Given the description of an element on the screen output the (x, y) to click on. 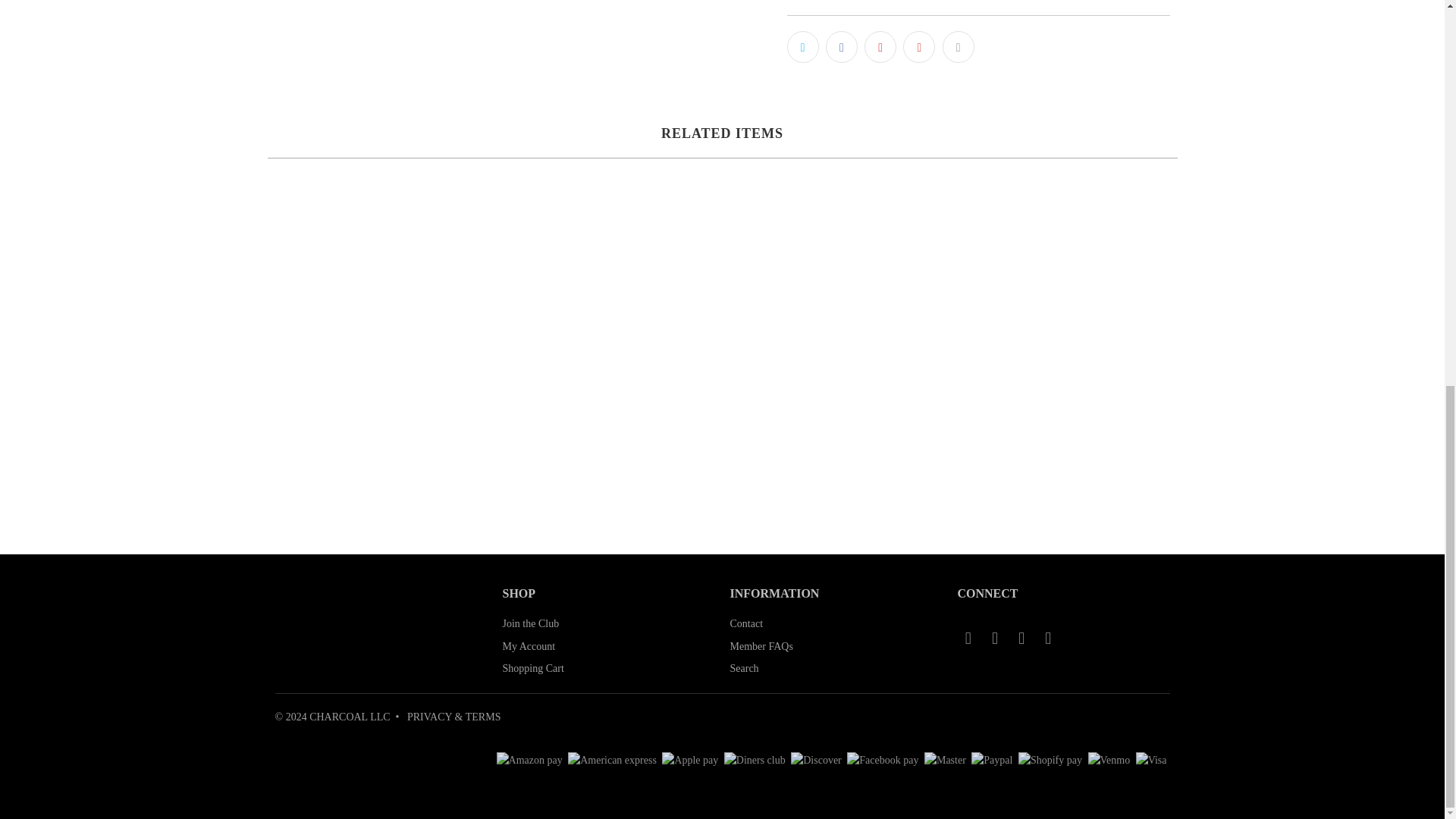
Email Charcoal Book Club (967, 638)
Email this to a friend (958, 47)
Charcoal Book Club on Facebook (995, 638)
Charcoal Book Club on Instagram (1021, 638)
Share this on Twitter (802, 47)
Share this on Pinterest (880, 47)
Share this on Facebook (841, 47)
